Given the description of an element on the screen output the (x, y) to click on. 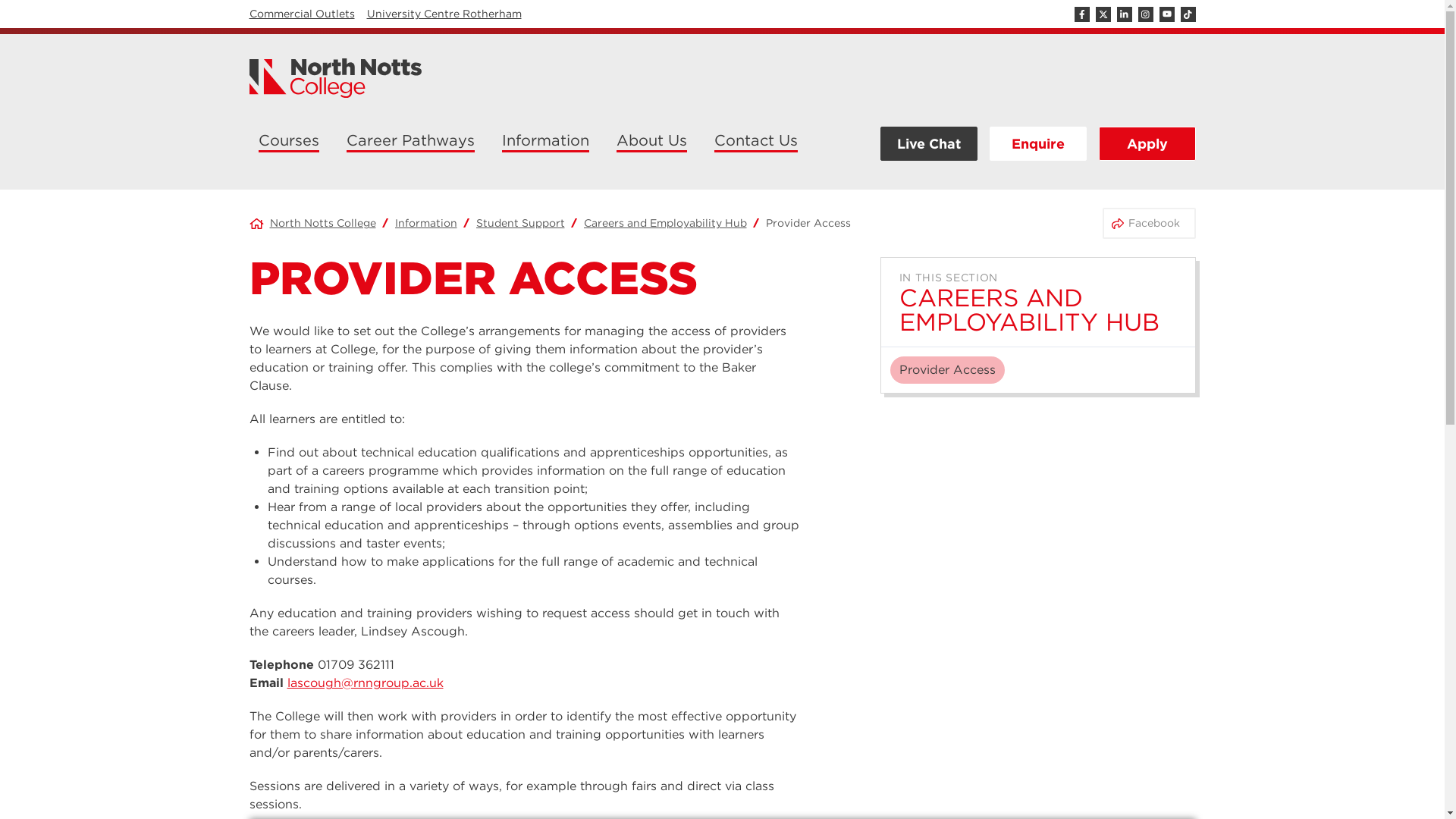
Facebook (1081, 13)
YouTube (1165, 13)
University Centre Rotherham (443, 13)
Commercial Outlets (300, 13)
TikTok (1187, 13)
Courses (287, 143)
LinkedIn (1123, 13)
North Notts College (335, 77)
Instagram (1145, 13)
